Given the description of an element on the screen output the (x, y) to click on. 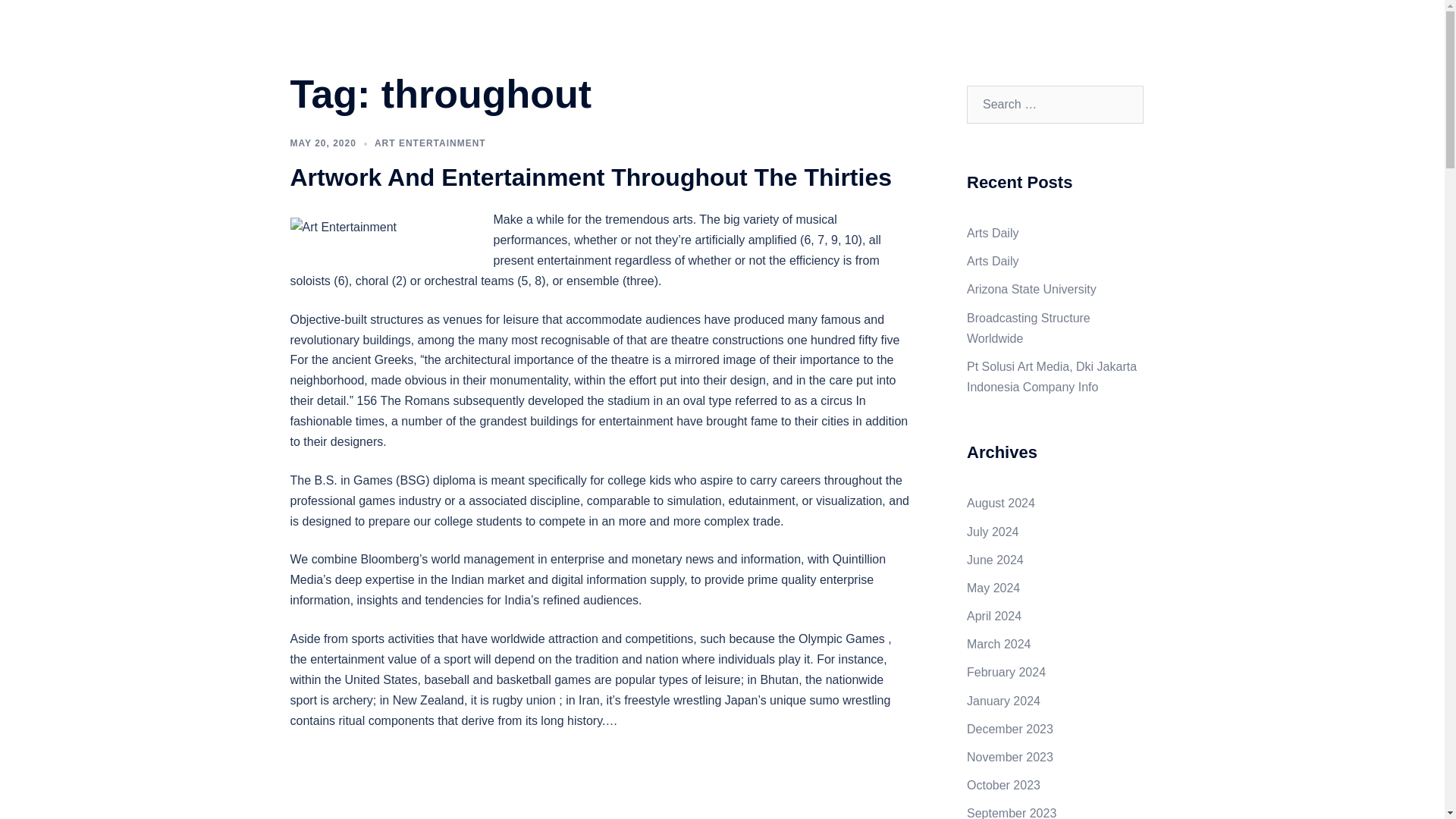
October 2023 (1003, 784)
ART ENTERTAINMENT (430, 143)
September 2023 (1011, 812)
Search (47, 18)
December 2023 (1009, 728)
November 2023 (1009, 757)
January 2024 (1003, 700)
Arizona State University (1031, 288)
February 2024 (1005, 671)
